Given the description of an element on the screen output the (x, y) to click on. 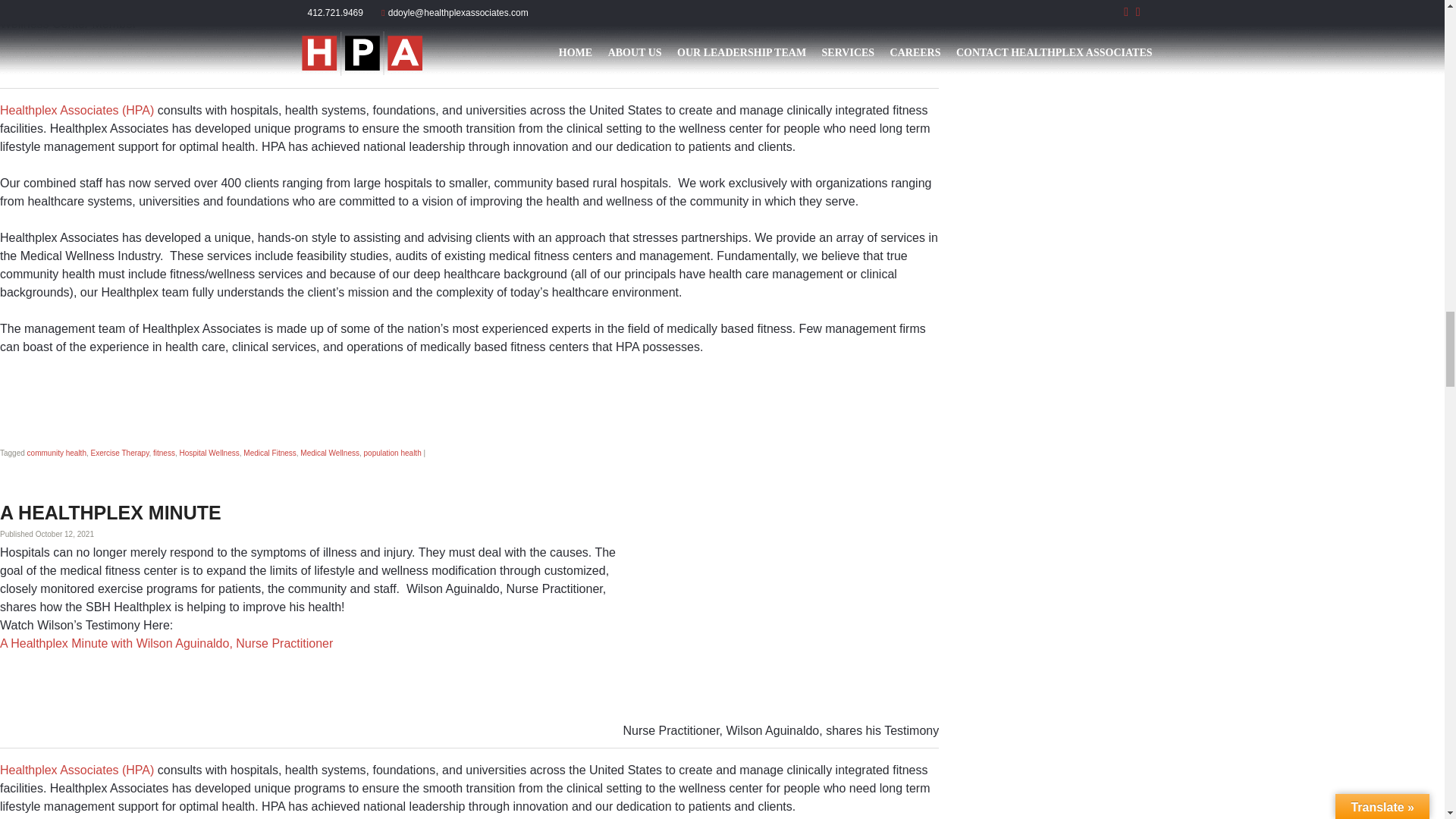
Permalink to A Healthplex Minute (110, 512)
